Given the description of an element on the screen output the (x, y) to click on. 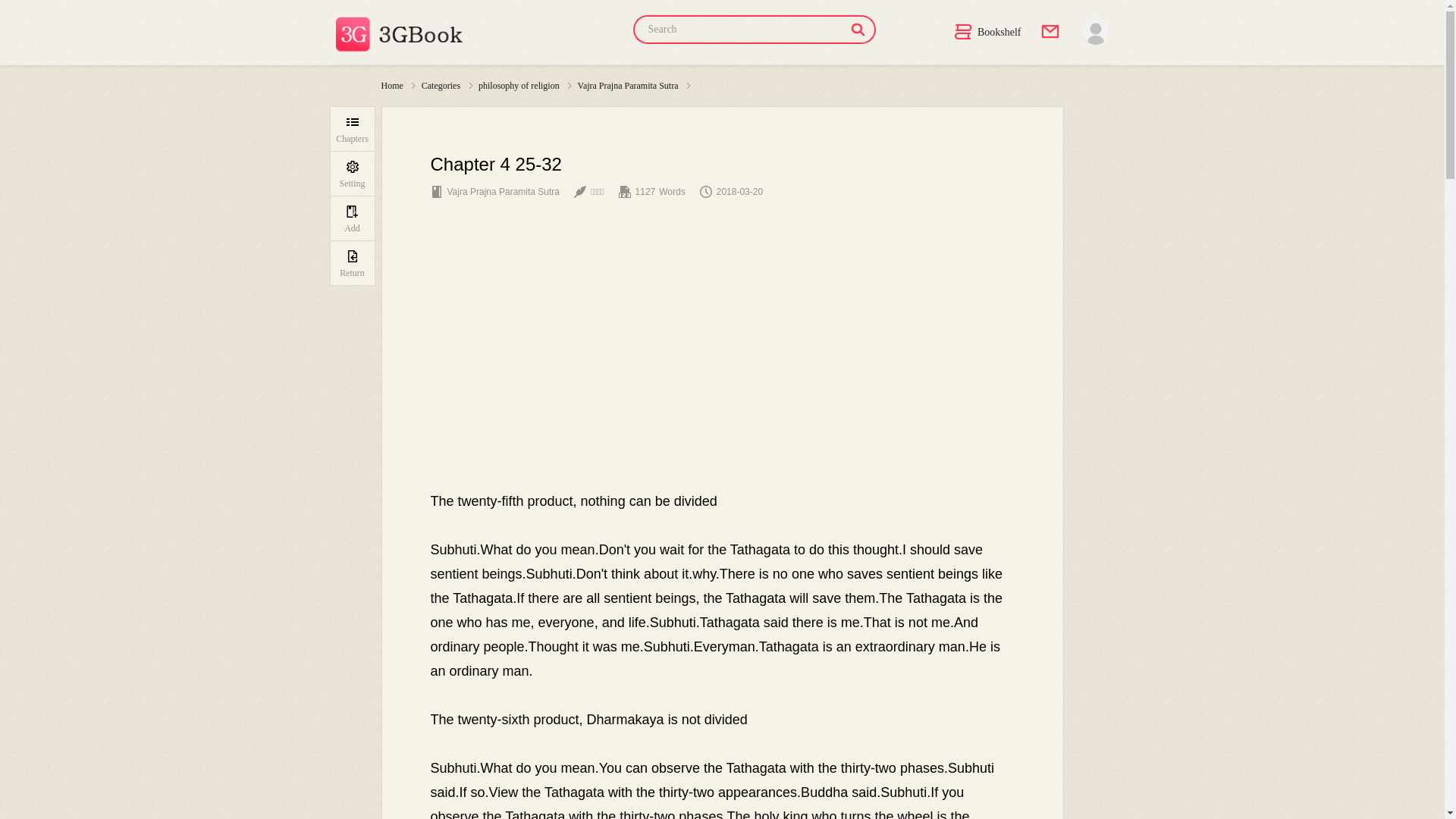
philosophy of religion Element type: text (518, 85)
Vajra Prajna Paramita Sutra Element type: text (627, 85)
Categories Element type: text (440, 85)
Advertisement Element type: hover (721, 375)
Home Element type: text (391, 85)
